Given the description of an element on the screen output the (x, y) to click on. 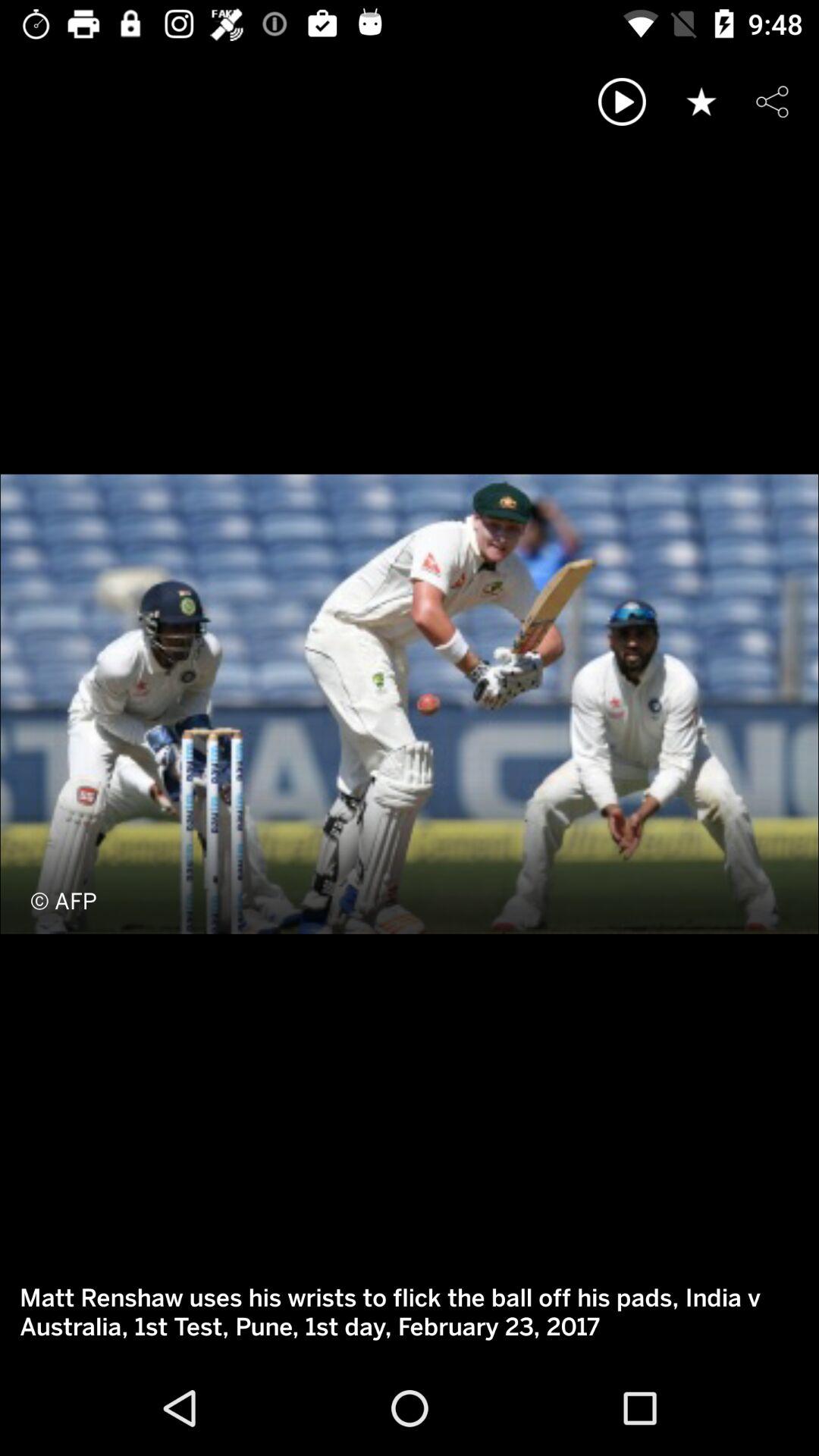
play (622, 101)
